Given the description of an element on the screen output the (x, y) to click on. 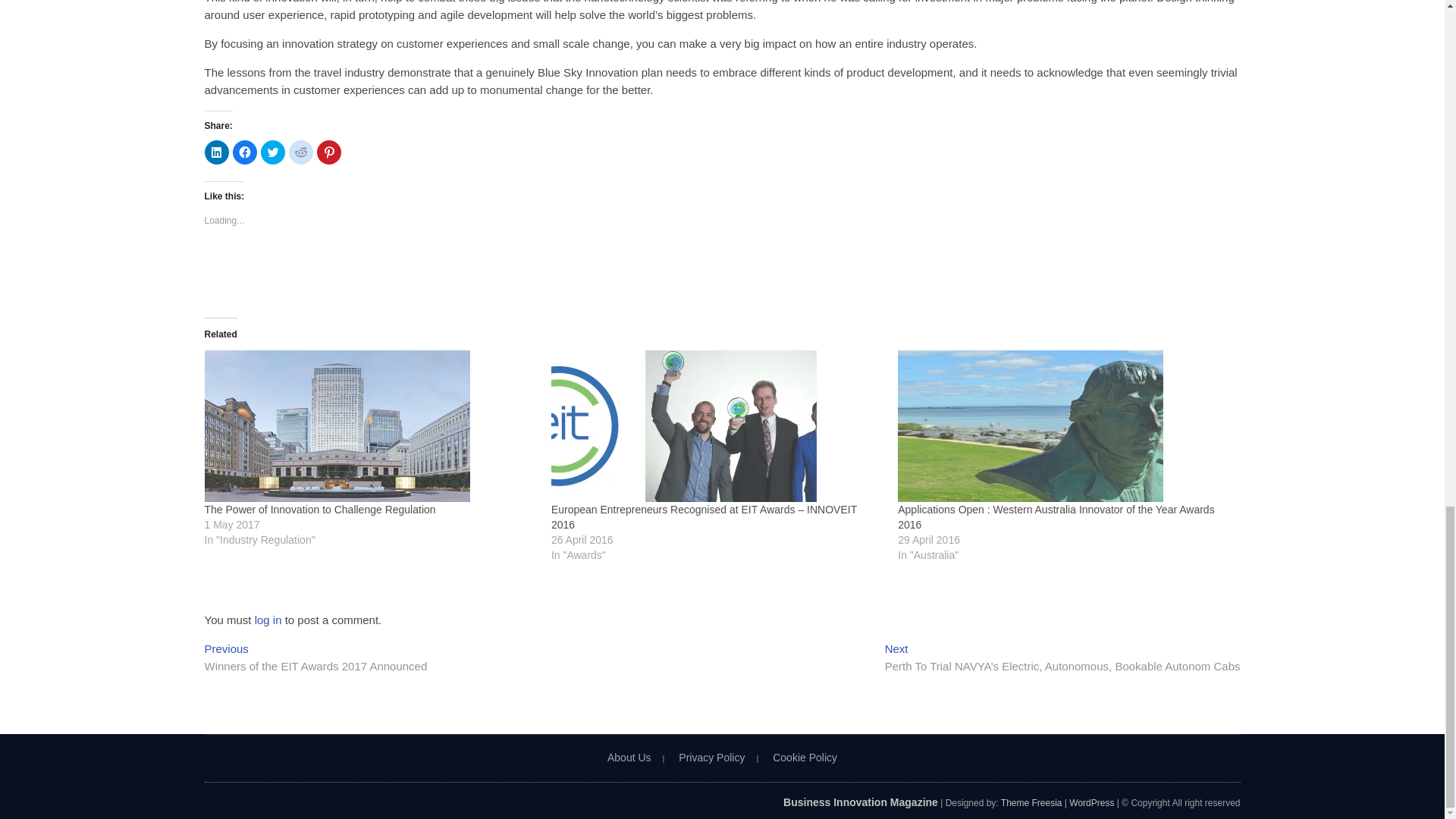
The Power of Innovation to Challenge Regulation (370, 426)
The Power of Innovation to Challenge Regulation (320, 509)
Click to share on Twitter (272, 152)
Business Innovation Magazine (860, 802)
Theme Freesia (1031, 802)
Click to share on Reddit (300, 152)
log in (268, 619)
About Us (628, 757)
Cookie Policy (804, 757)
Click to share on Facebook (243, 152)
Like or Reblog (722, 273)
WordPress (1090, 802)
